Given the description of an element on the screen output the (x, y) to click on. 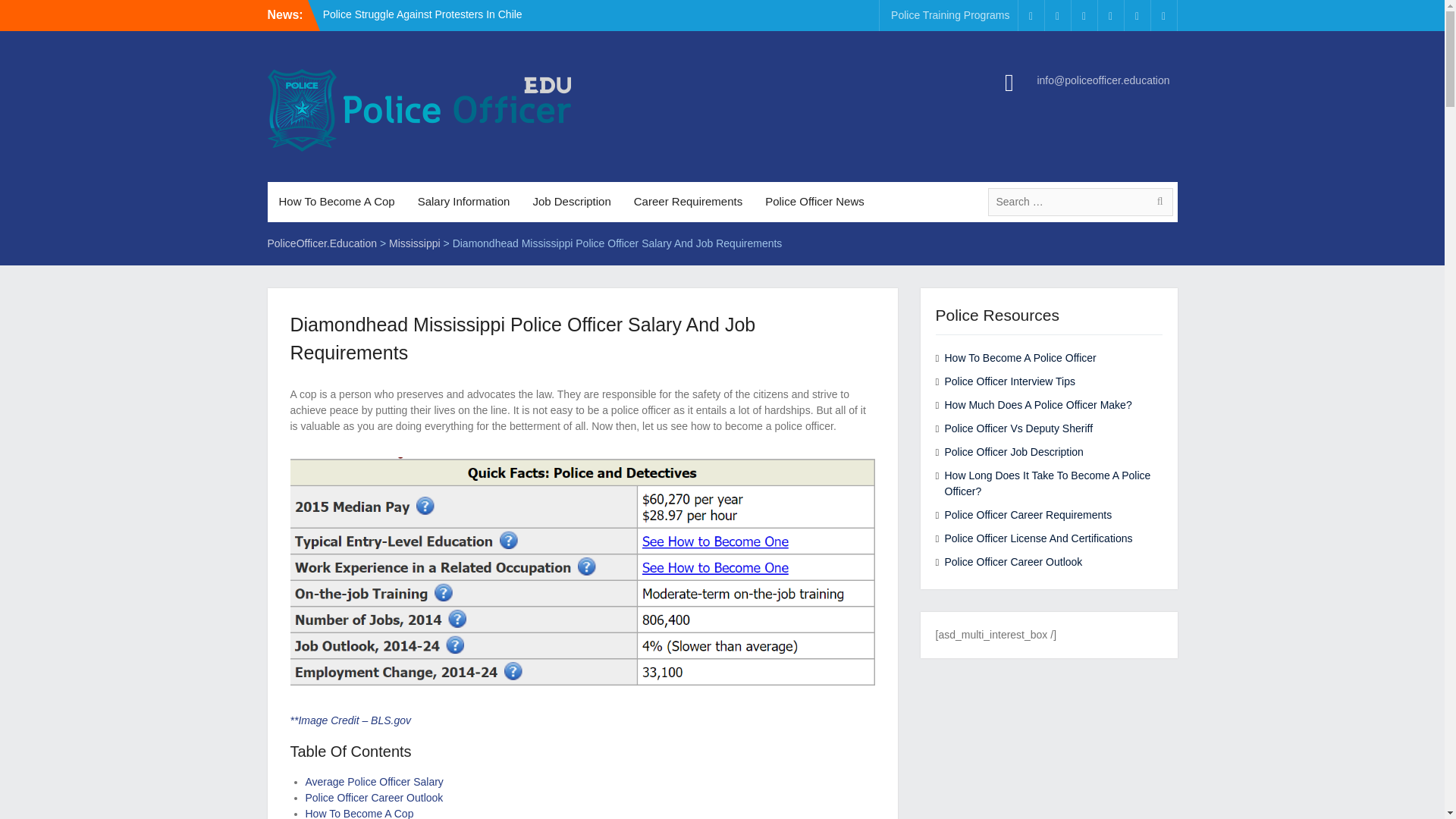
Police Officer Career Outlook (373, 797)
PoliceOfficer.Education (321, 242)
Police Officer News (815, 201)
Police Struggle Against Protesters In Chile (422, 14)
Go to PoliceOfficer.Education. (321, 242)
Career Requirements (688, 201)
Job Description (571, 201)
Average Police Officer Salary (373, 781)
Go to the Mississippi State Career archives. (414, 242)
Police Training Programs (949, 15)
